Given the description of an element on the screen output the (x, y) to click on. 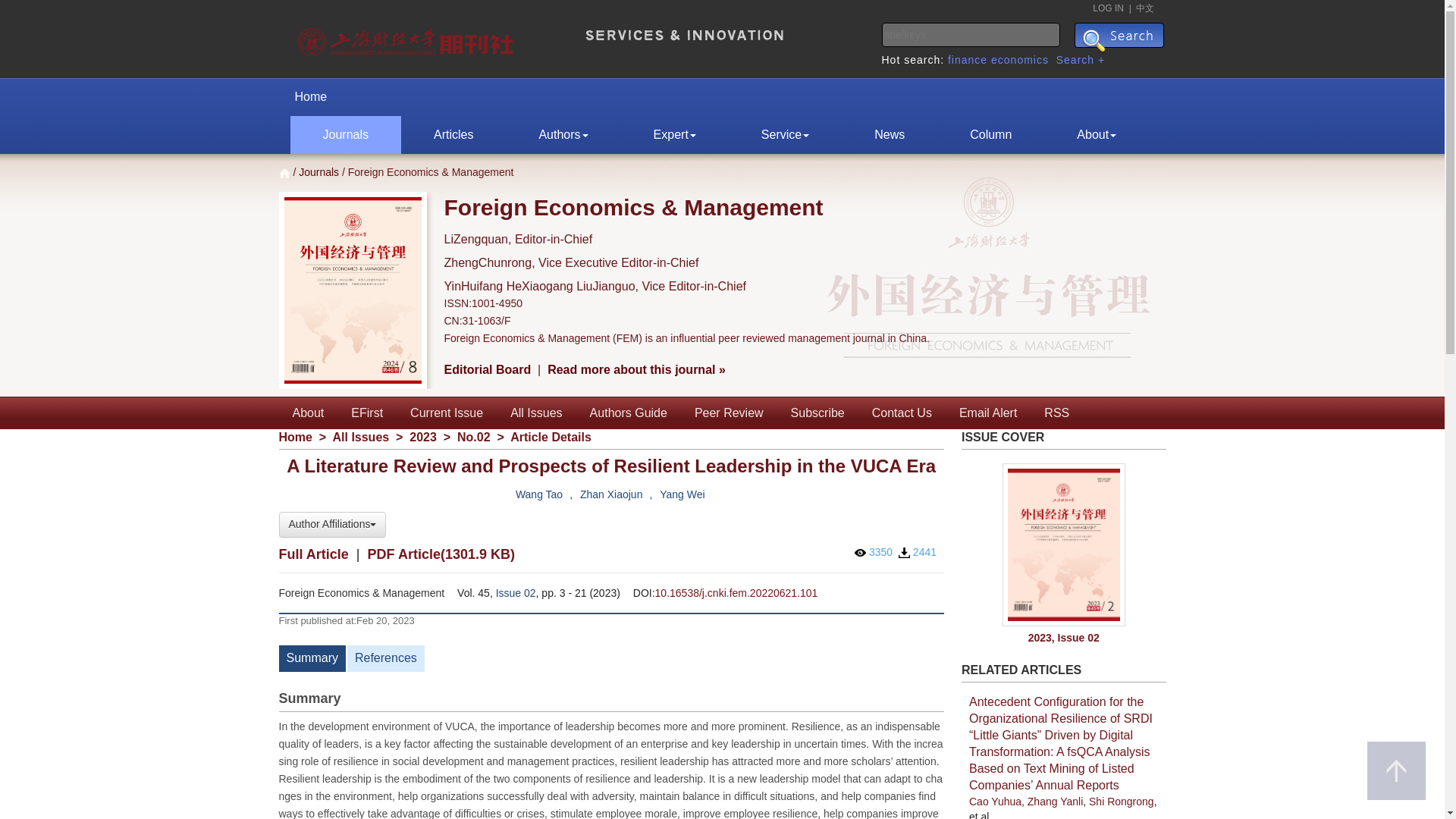
View articles of the same author (682, 494)
Articles (453, 134)
economics (1019, 60)
Expert center (675, 134)
Email Alert (987, 412)
Contact Us (901, 412)
Column (990, 134)
finance (967, 60)
Journals (344, 134)
About (1095, 134)
